Given the description of an element on the screen output the (x, y) to click on. 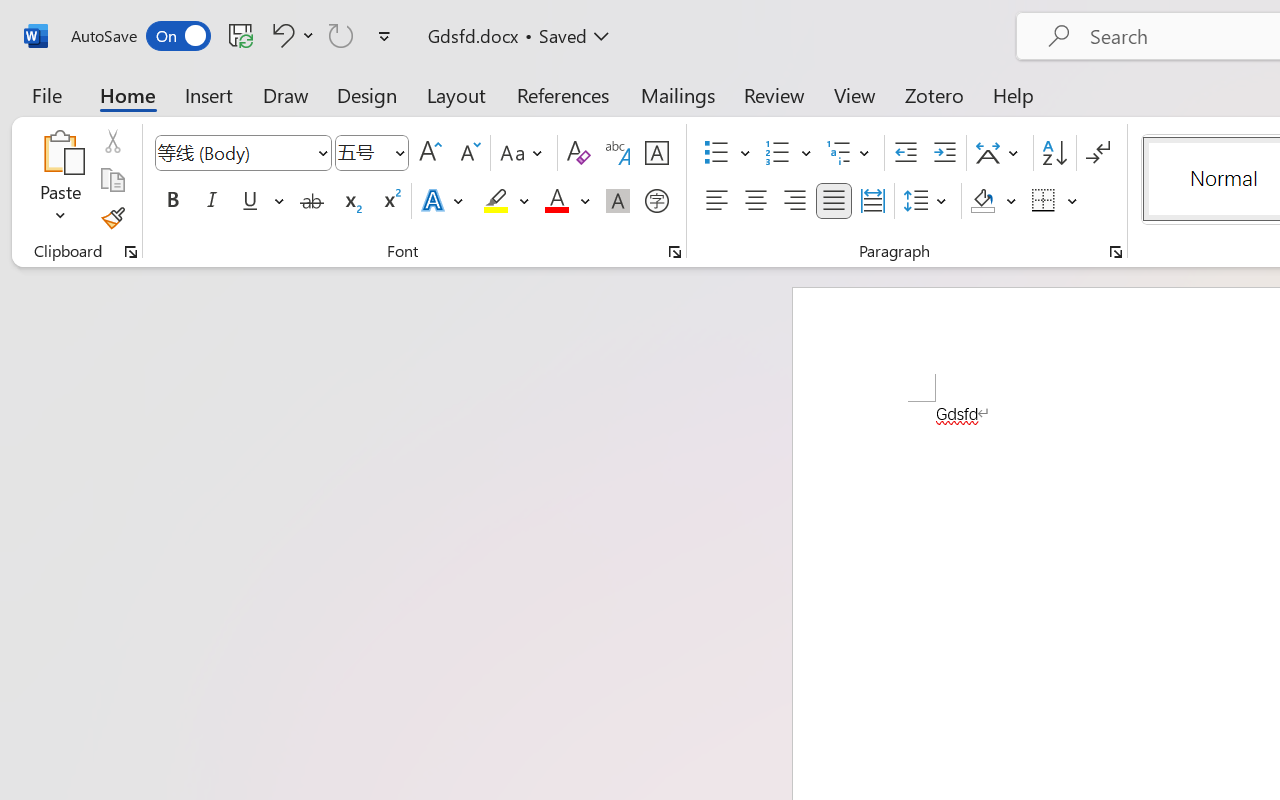
Font Color Red (556, 201)
